Given the description of an element on the screen output the (x, y) to click on. 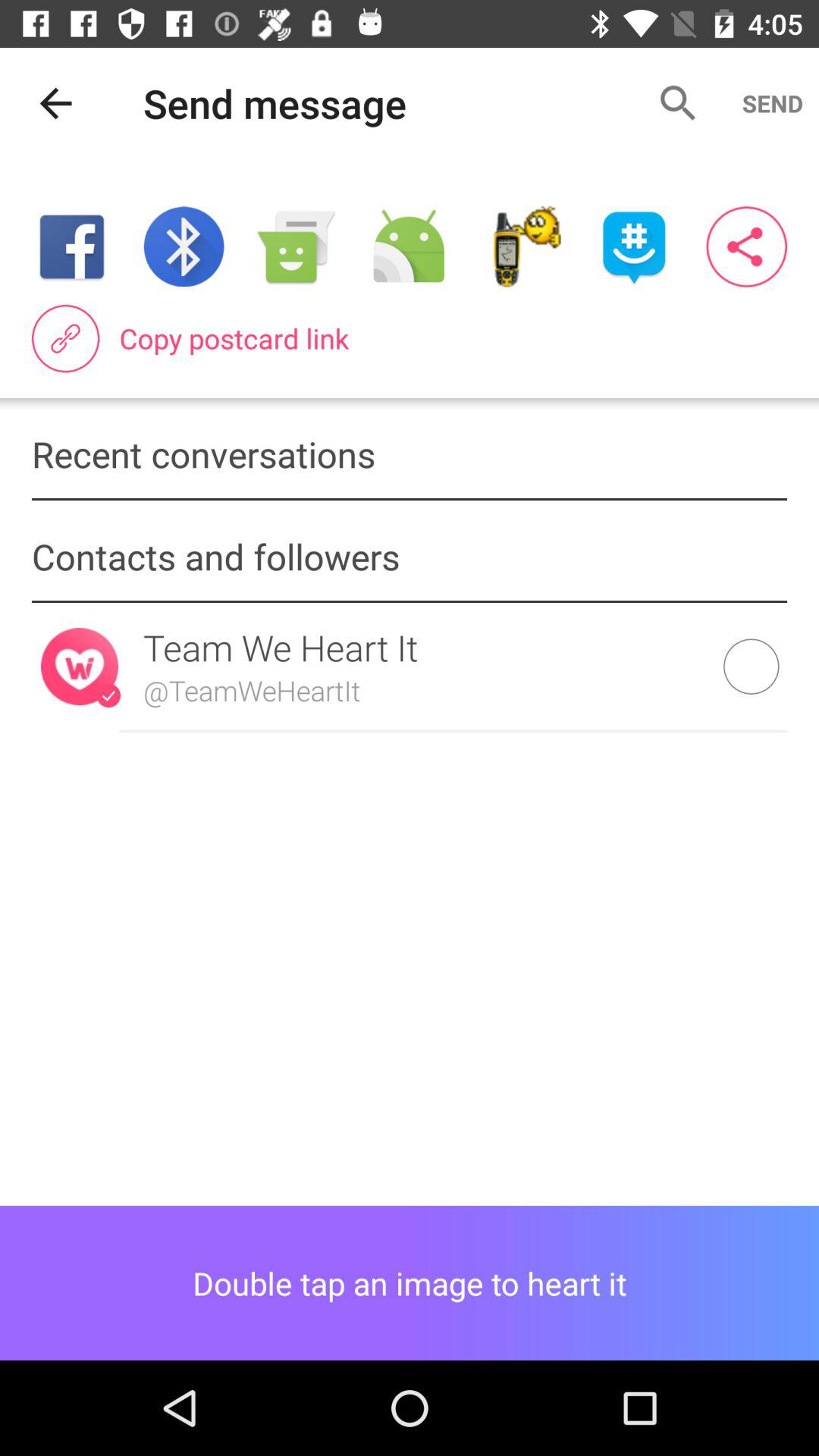
toggle interface (746, 246)
